Given the description of an element on the screen output the (x, y) to click on. 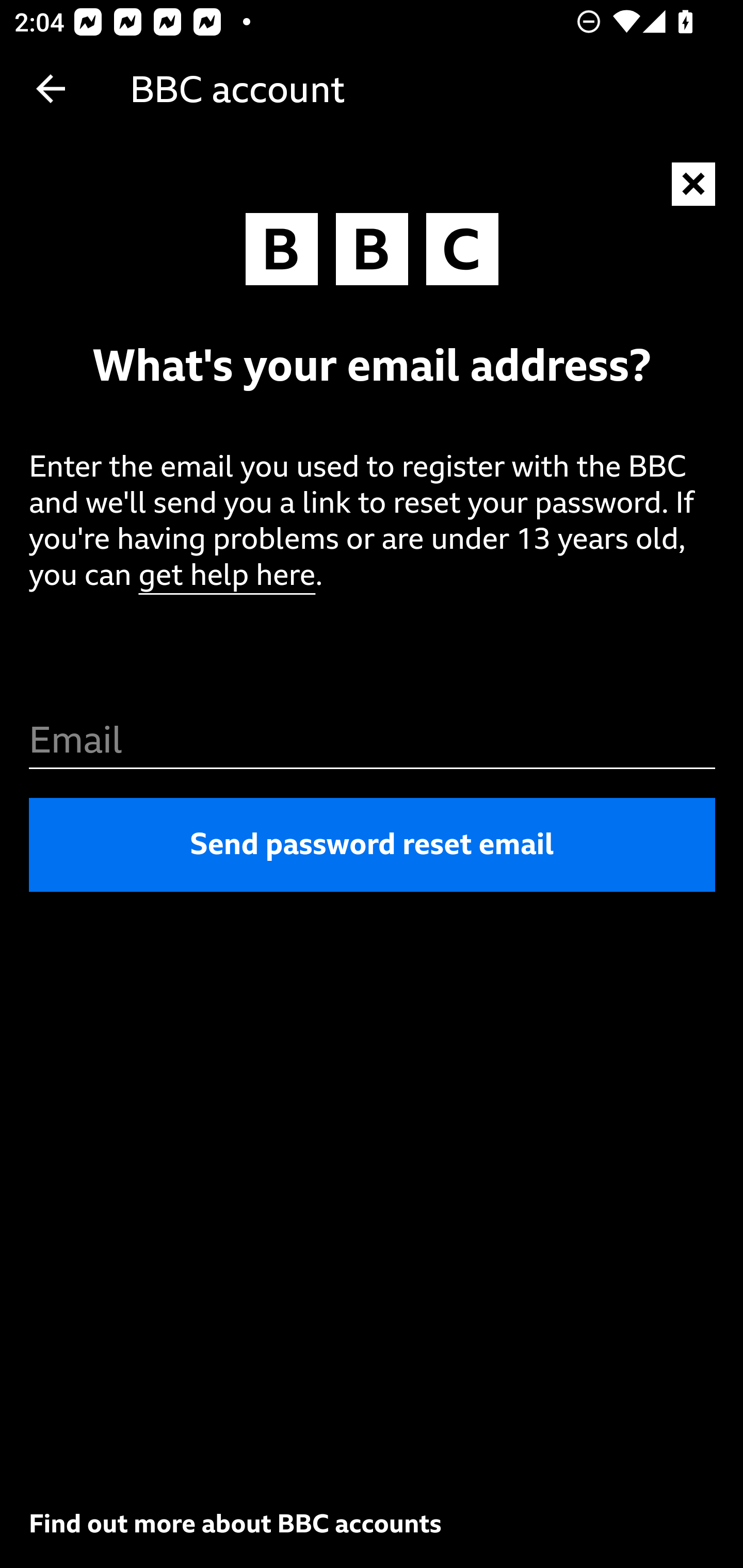
Close and return to where you originally came from (694, 184)
Go to the BBC Homepage (371, 253)
get help here (226, 576)
Send password reset email (372, 844)
Find out more about BBC accounts (235, 1522)
